Given the description of an element on the screen output the (x, y) to click on. 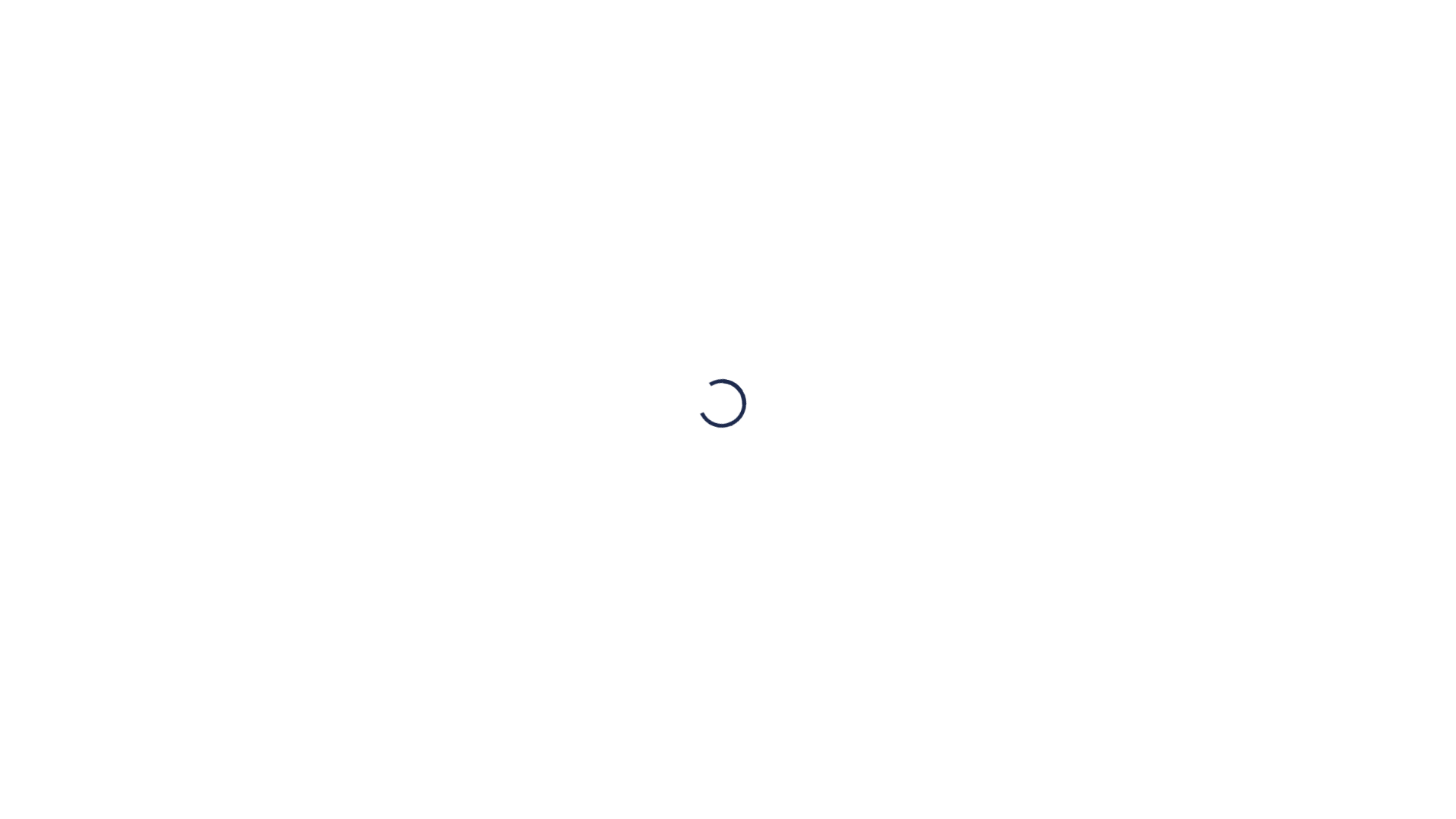
BE Element type: text (1155, 52)
+375 (17) 516-80-61 Element type: text (722, 37)
+375 (17) 516-80-64 Element type: text (724, 63)
EN Element type: text (1185, 52)
info@rlt.by Element type: text (474, 405)
https://rlt.by Element type: text (570, 289)
realty@mail.bn.by Element type: text (493, 380)
RU Element type: text (1124, 52)
